Given the description of an element on the screen output the (x, y) to click on. 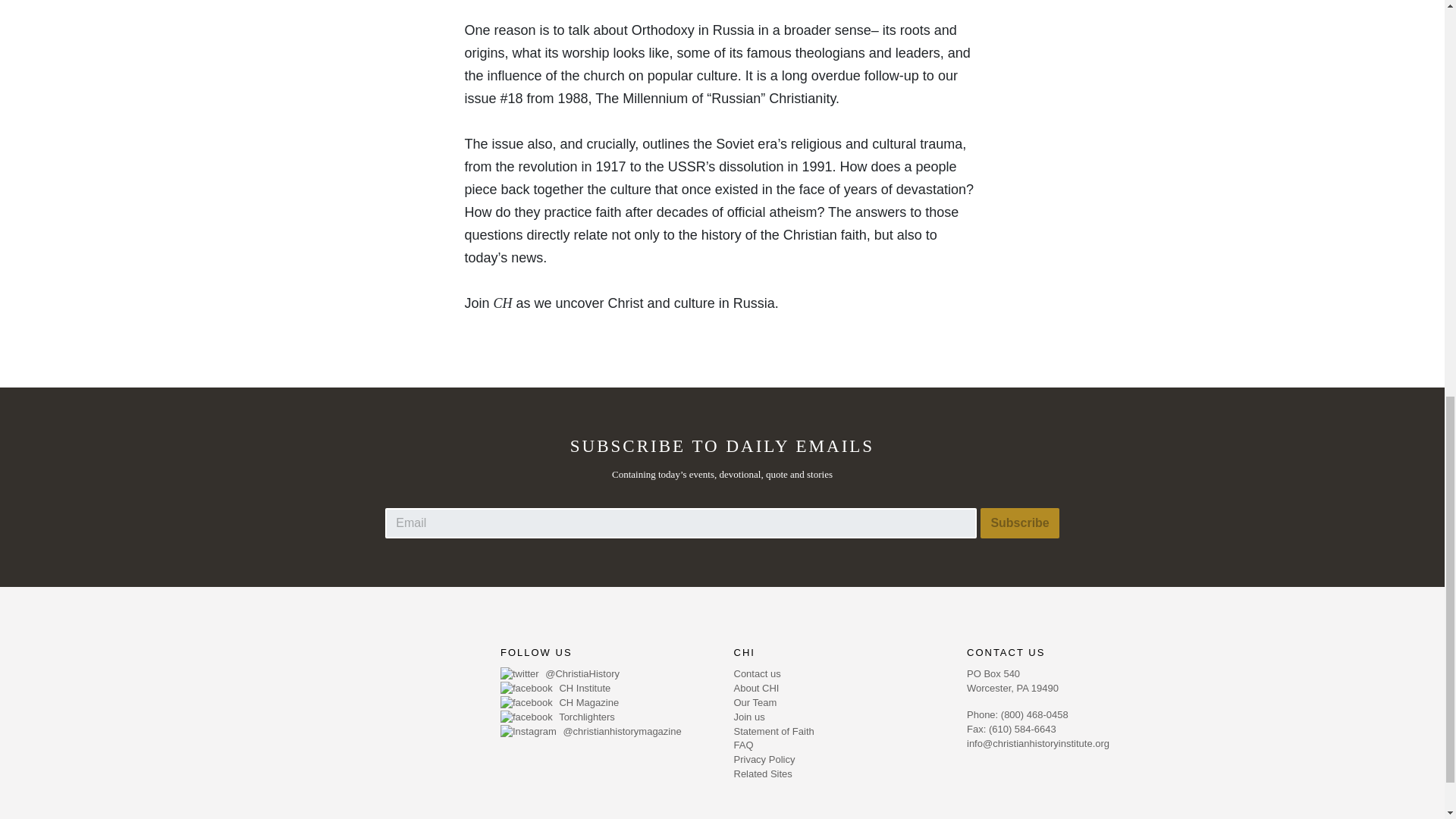
Subscribe (1018, 522)
Statement of Faith (838, 731)
Related Sites (838, 774)
About CHI (838, 688)
Privacy Policy (838, 759)
CH Magazine (605, 703)
FAQ (838, 745)
Contact us (838, 674)
Our Team (838, 703)
CH Institute (605, 688)
